Given the description of an element on the screen output the (x, y) to click on. 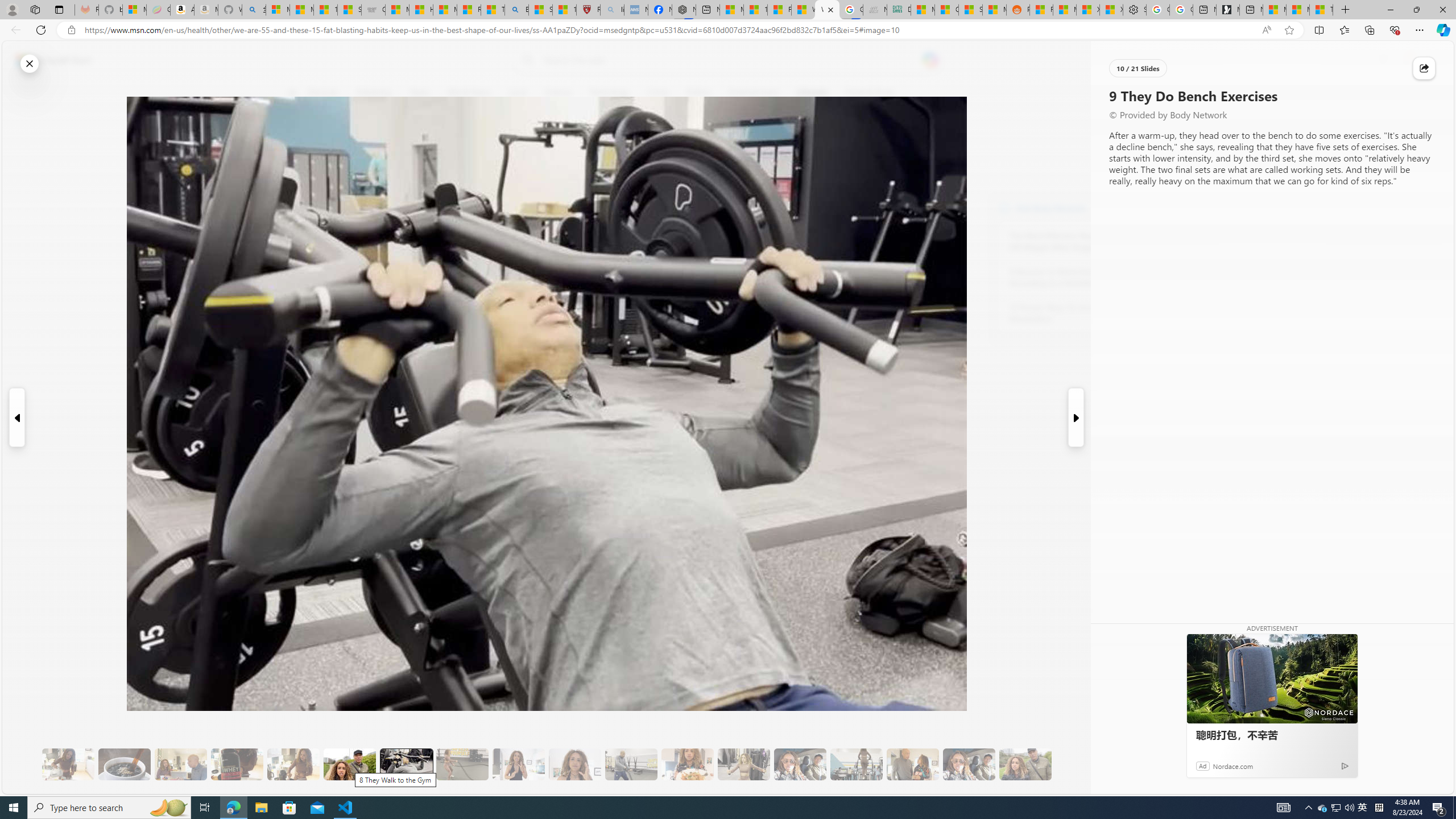
Skip to footer (46, 59)
Navy Quest (874, 9)
3 They Drink Lemon Tea (68, 764)
5 She Eats Less Than Her Husband (180, 764)
18 It's More Fun Doing It with Someone Else (912, 764)
Science (558, 92)
Local (517, 92)
